Given the description of an element on the screen output the (x, y) to click on. 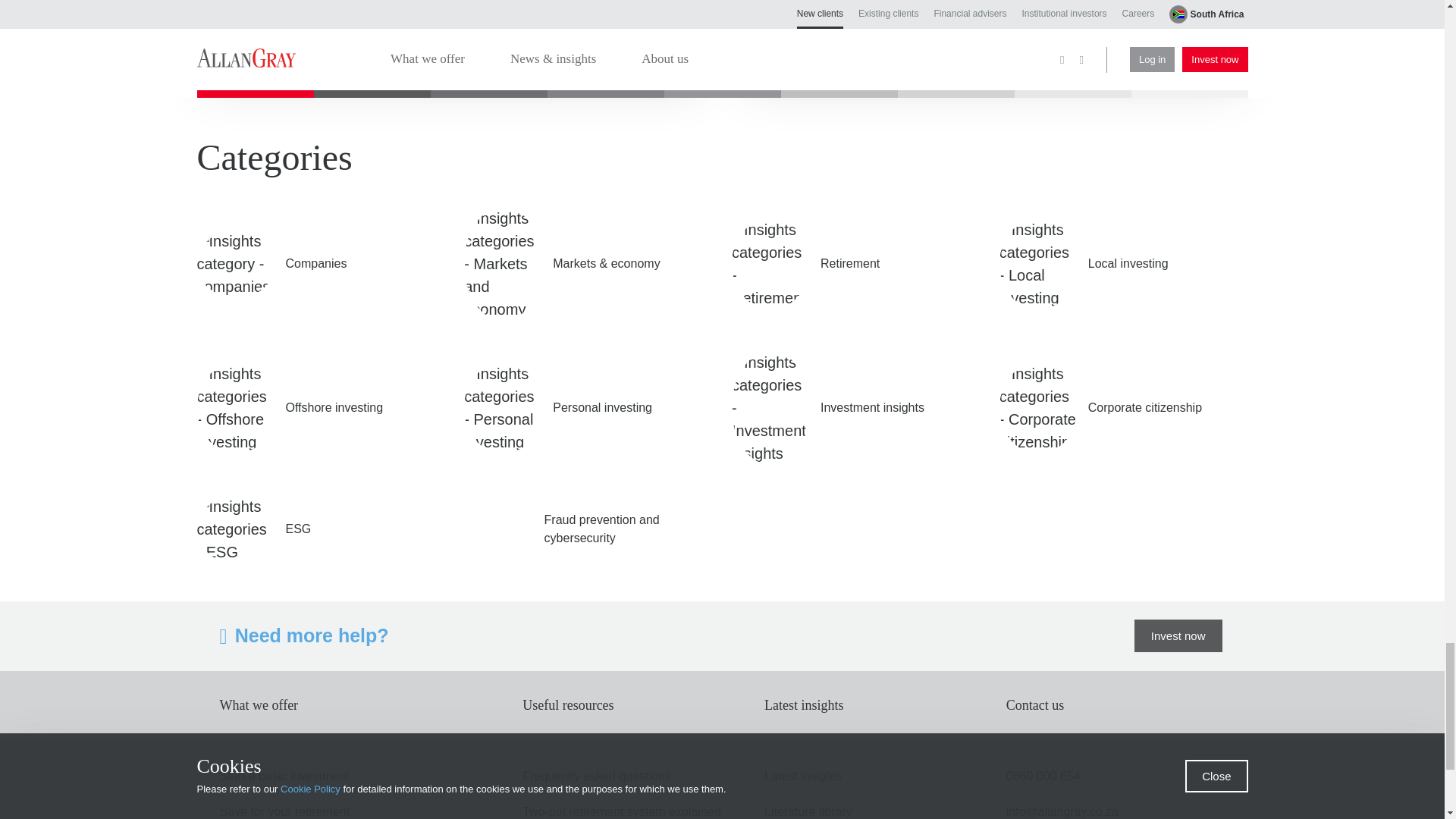
Two-pot retirement system explained (621, 811)
